Given the description of an element on the screen output the (x, y) to click on. 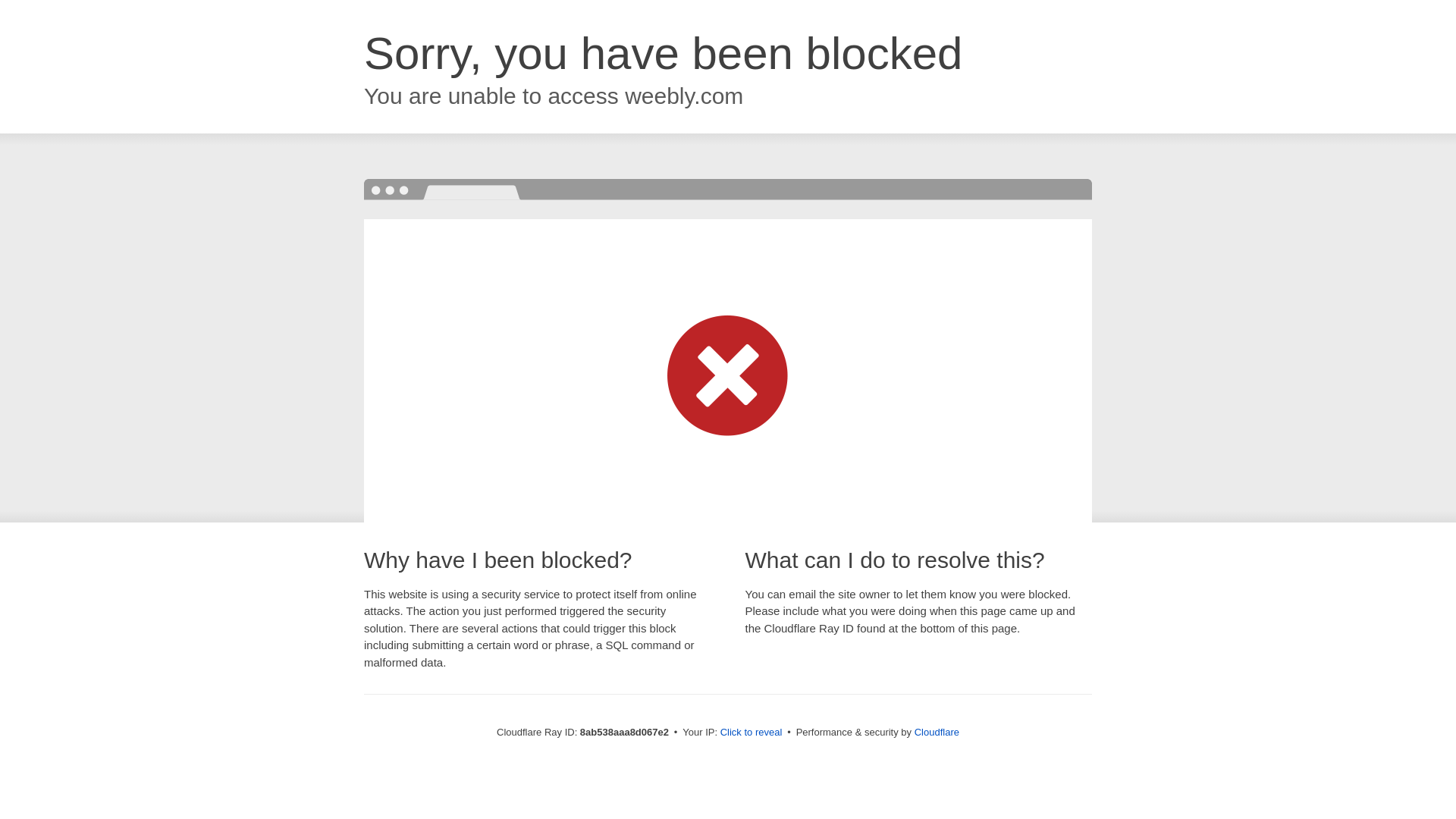
Click to reveal (751, 732)
Cloudflare (936, 731)
